Given the description of an element on the screen output the (x, y) to click on. 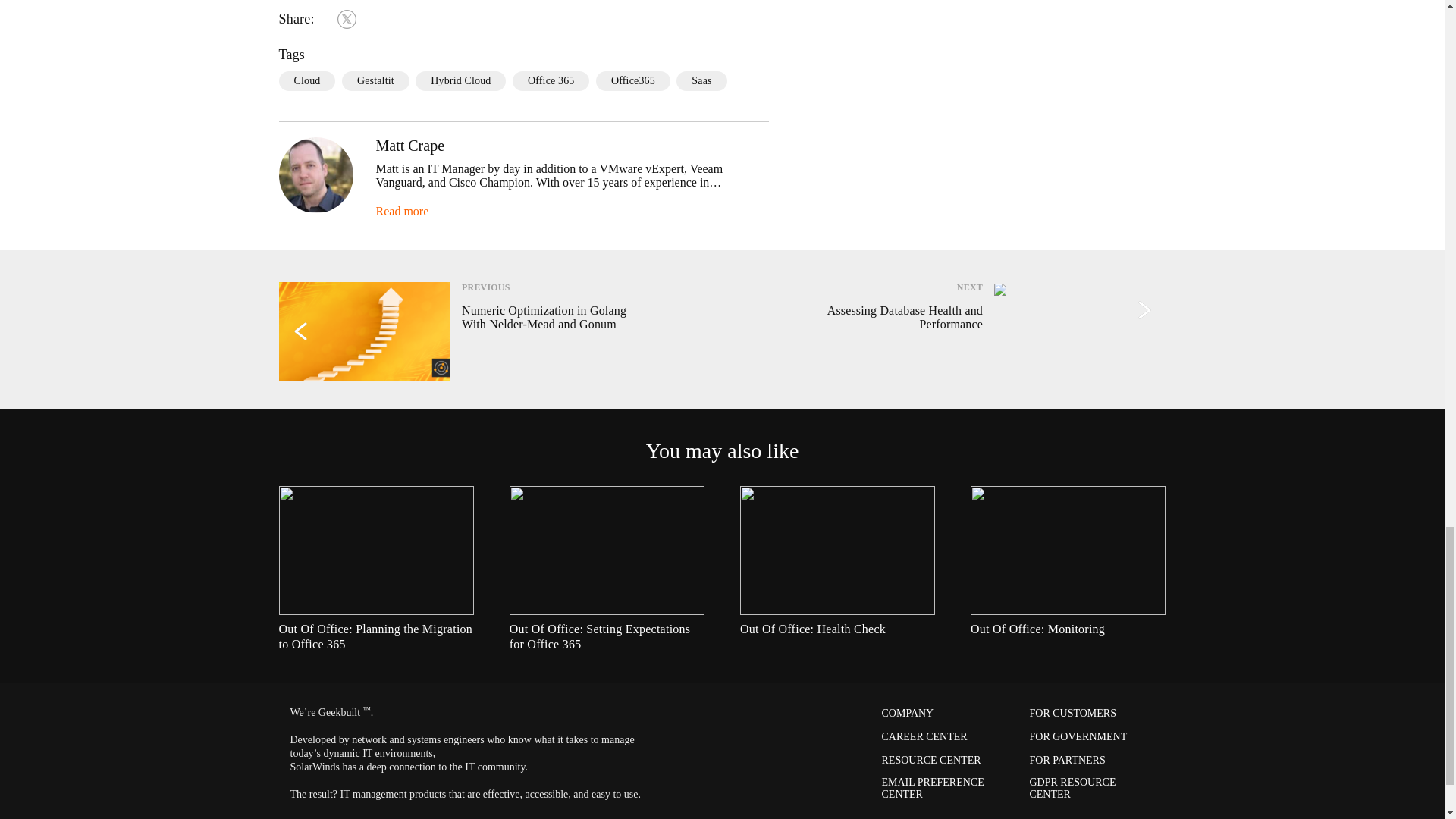
Cloud (307, 80)
